Given the description of an element on the screen output the (x, y) to click on. 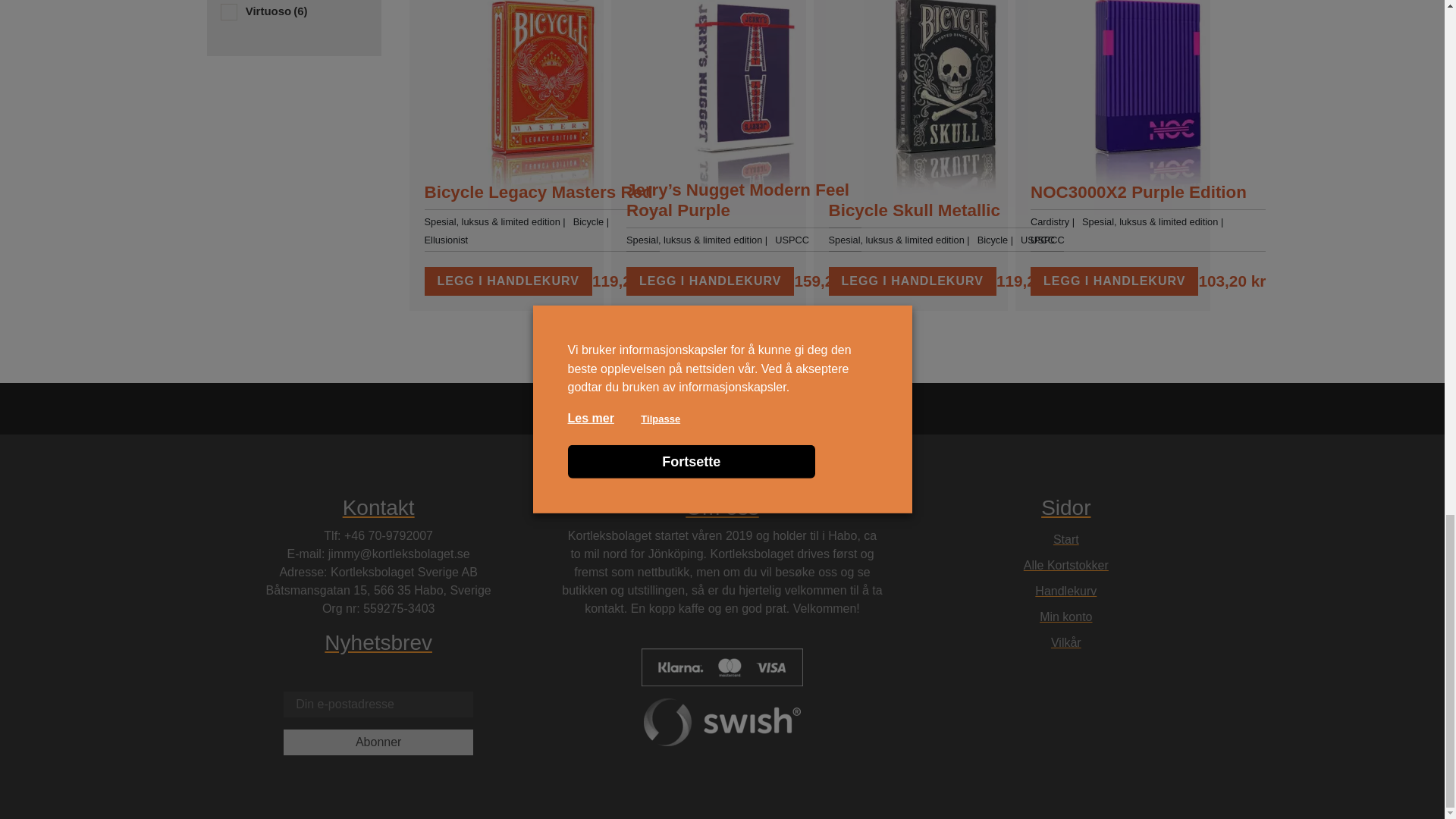
Abonner (378, 742)
